Given the description of an element on the screen output the (x, y) to click on. 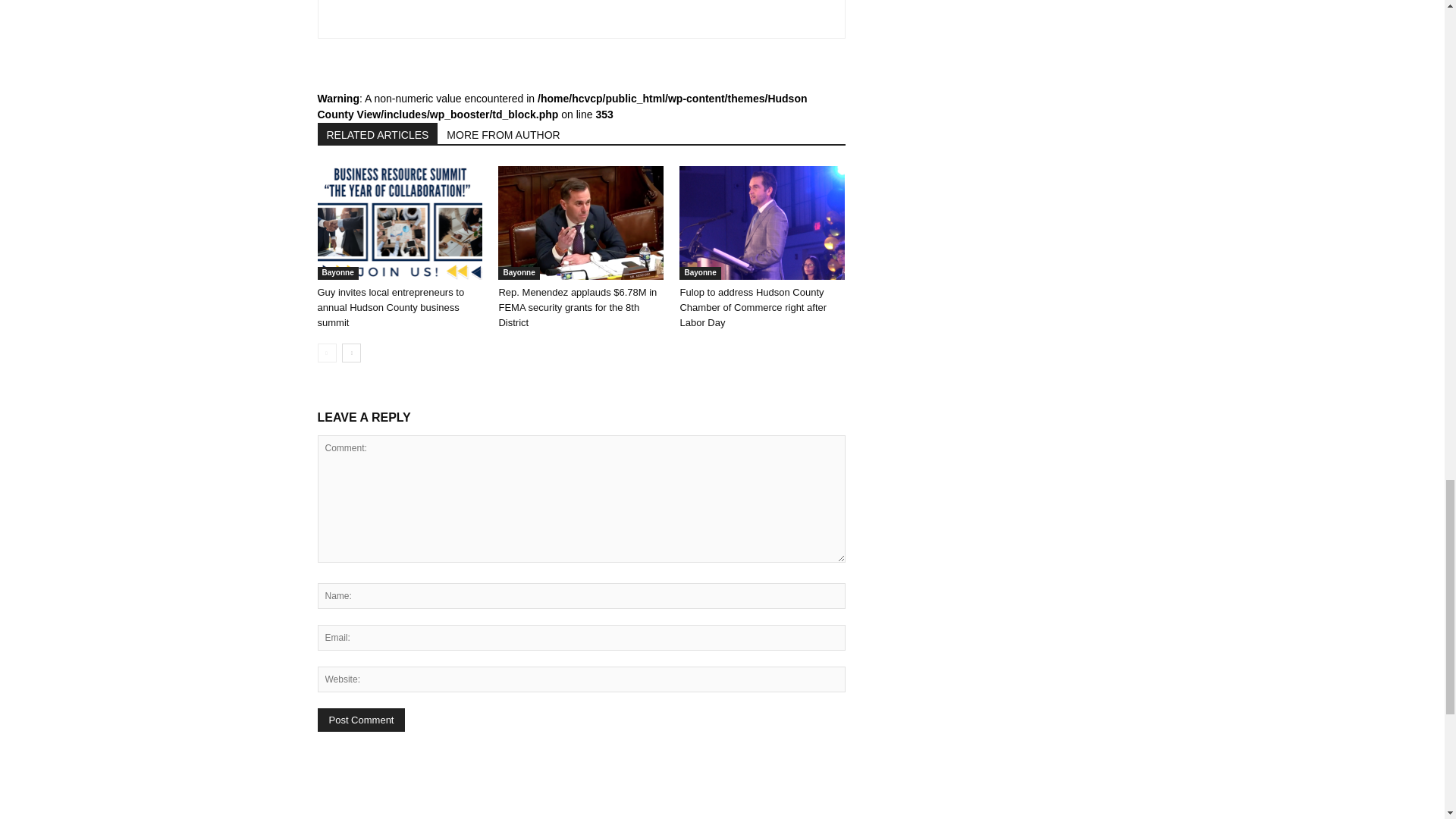
Post Comment (360, 720)
